Given the description of an element on the screen output the (x, y) to click on. 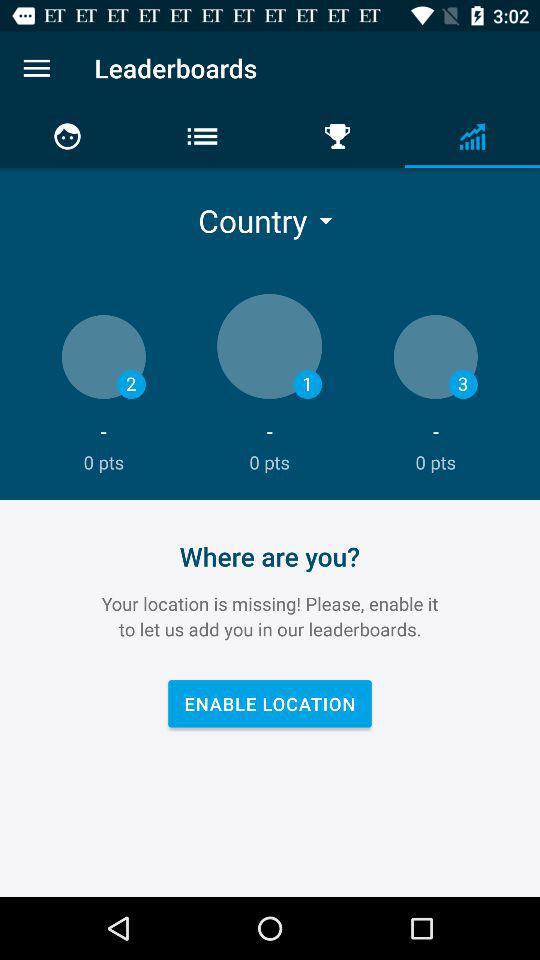
click menu option (36, 68)
